Given the description of an element on the screen output the (x, y) to click on. 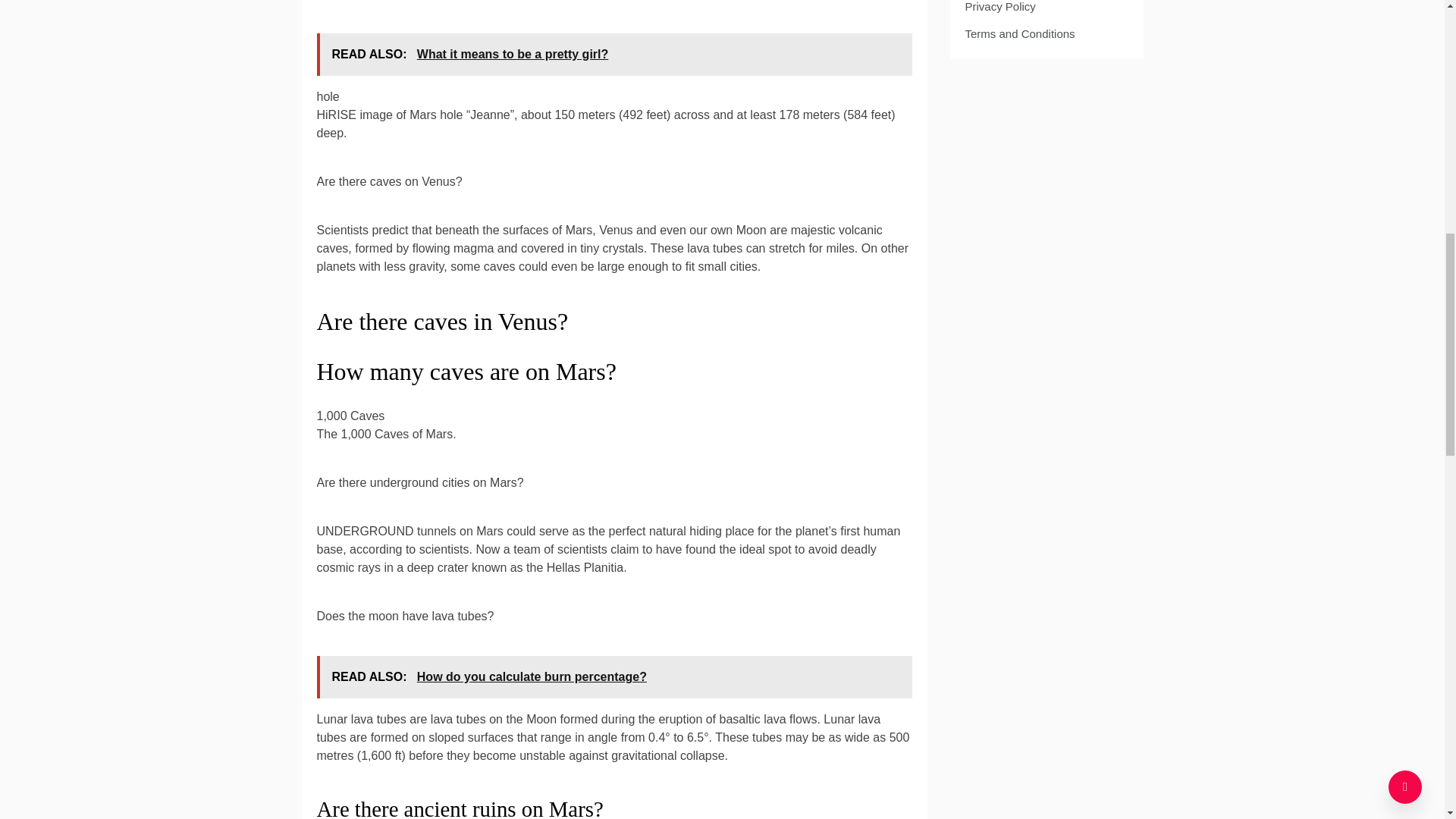
Terms and Conditions (1018, 33)
Privacy Policy (999, 6)
READ ALSO:   What it means to be a pretty girl? (614, 54)
READ ALSO:   How do you calculate burn percentage? (614, 677)
